Given the description of an element on the screen output the (x, y) to click on. 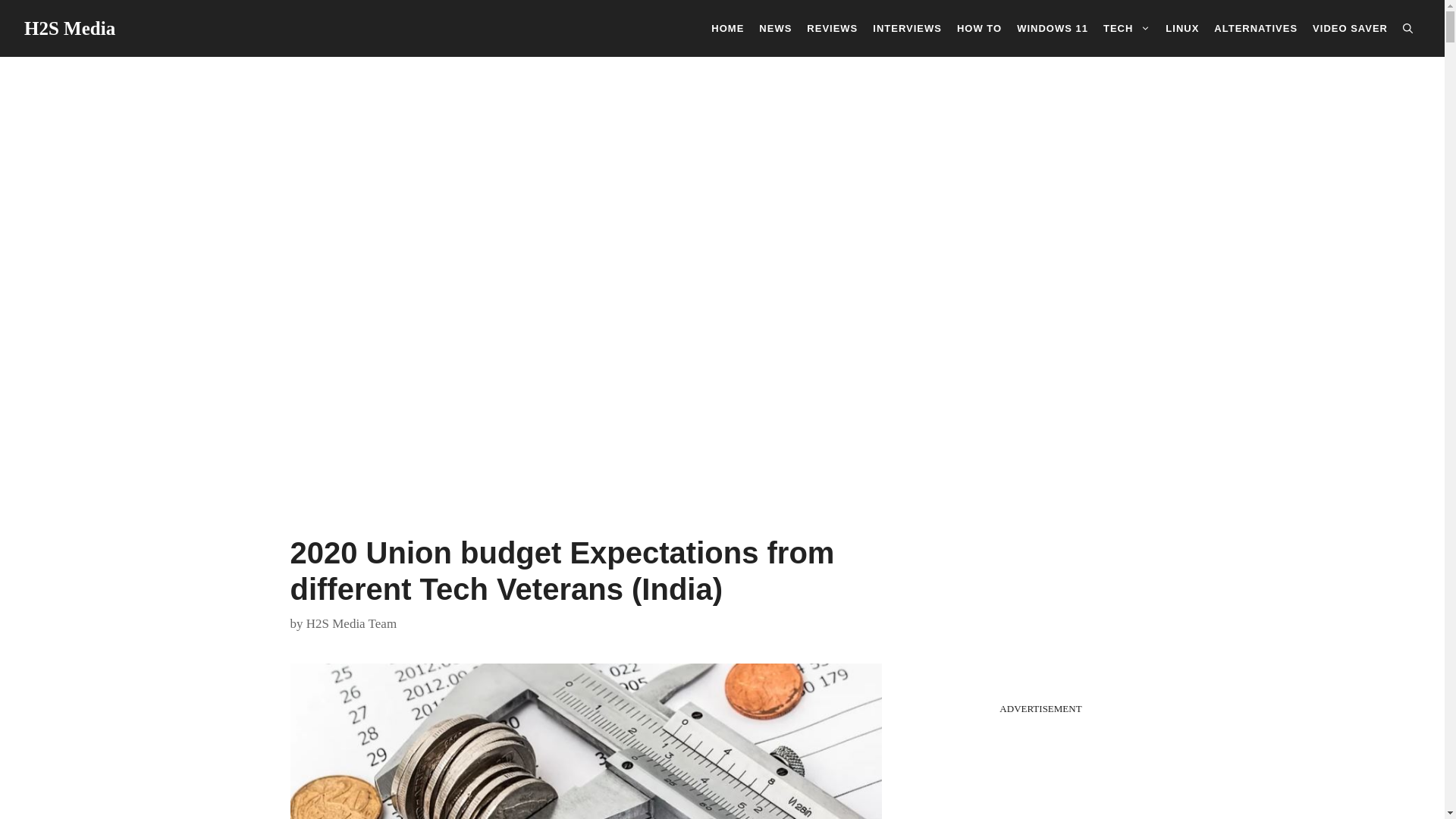
LINUX (1182, 27)
HOW TO (979, 27)
View all posts by H2S Media Team (350, 622)
HOME (727, 27)
INTERVIEWS (906, 27)
NEWS (775, 27)
ALTERNATIVES (1255, 27)
VIDEO SAVER (1349, 27)
H2S Media Team (350, 622)
H2S Media (69, 28)
TECH (1126, 27)
REVIEWS (831, 27)
WINDOWS 11 (1052, 27)
